Given the description of an element on the screen output the (x, y) to click on. 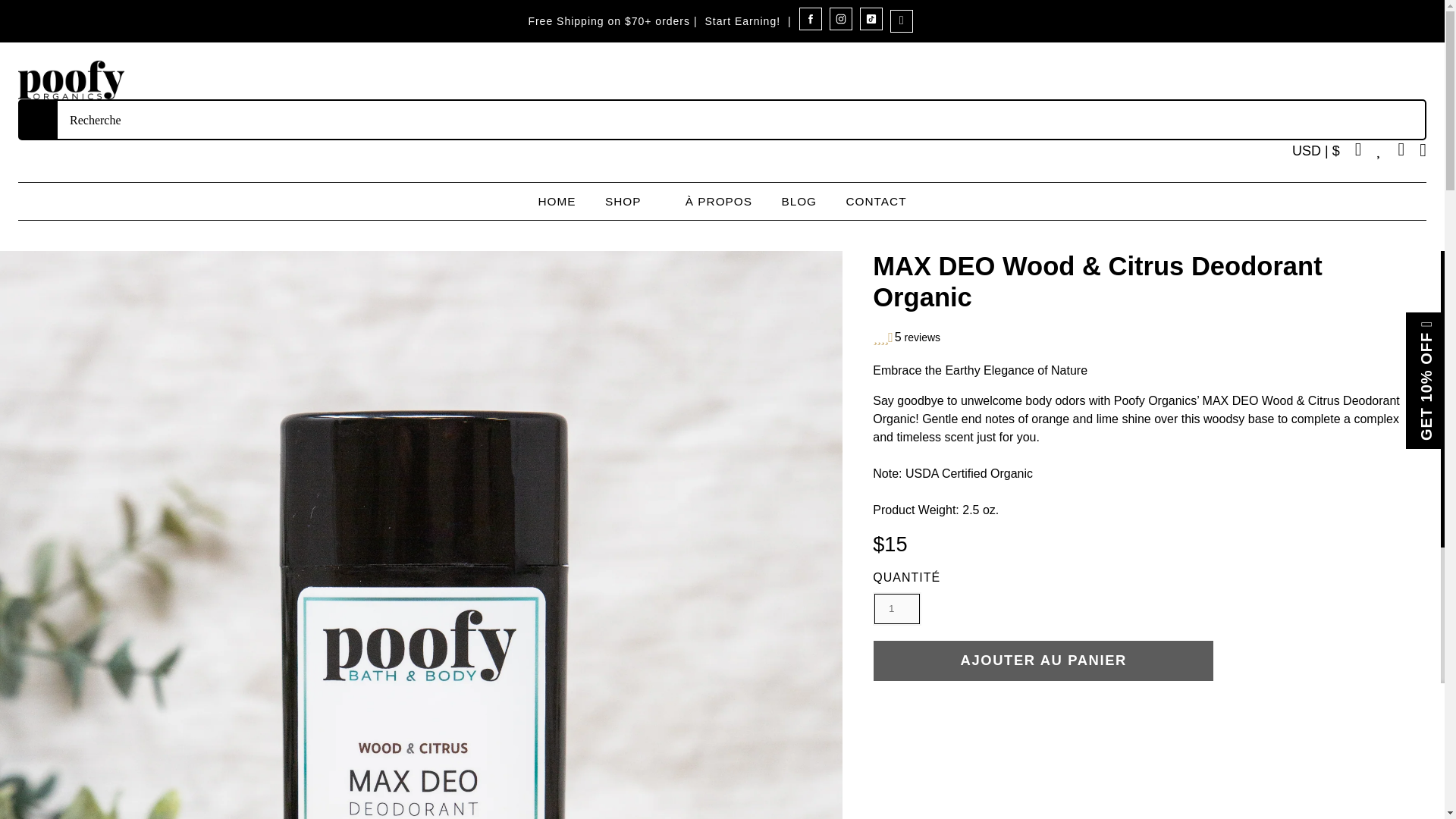
Facebook (810, 25)
BLOG (799, 201)
Start Earning! (742, 21)
HOME (555, 201)
SHOP (631, 201)
TikTok (871, 25)
CONTACT (875, 201)
AJOUTER AU PANIER (1043, 660)
Instagram (840, 25)
